Given the description of an element on the screen output the (x, y) to click on. 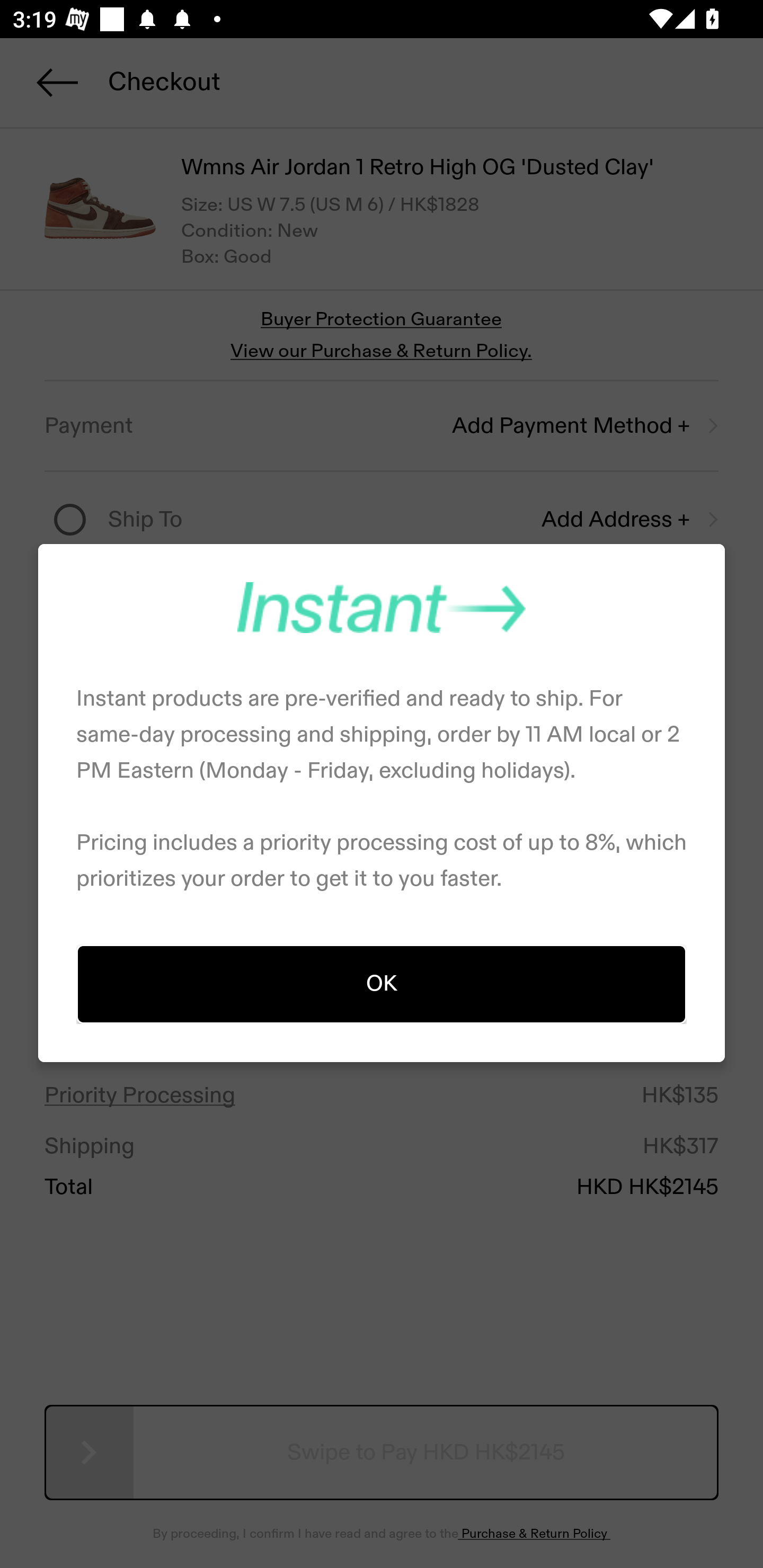
OK (381, 983)
